Given the description of an element on the screen output the (x, y) to click on. 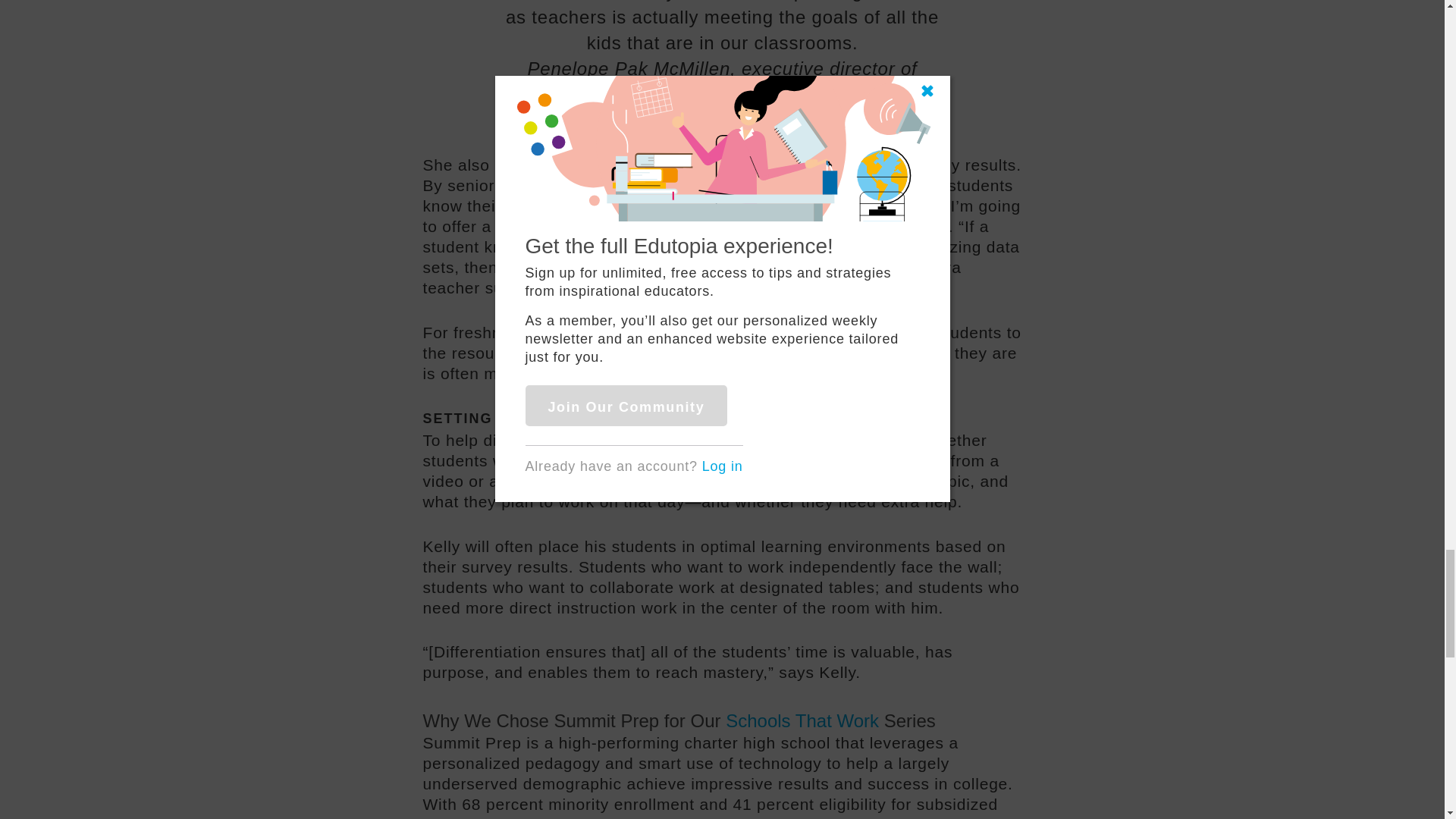
Schools That Work (802, 720)
